Given the description of an element on the screen output the (x, y) to click on. 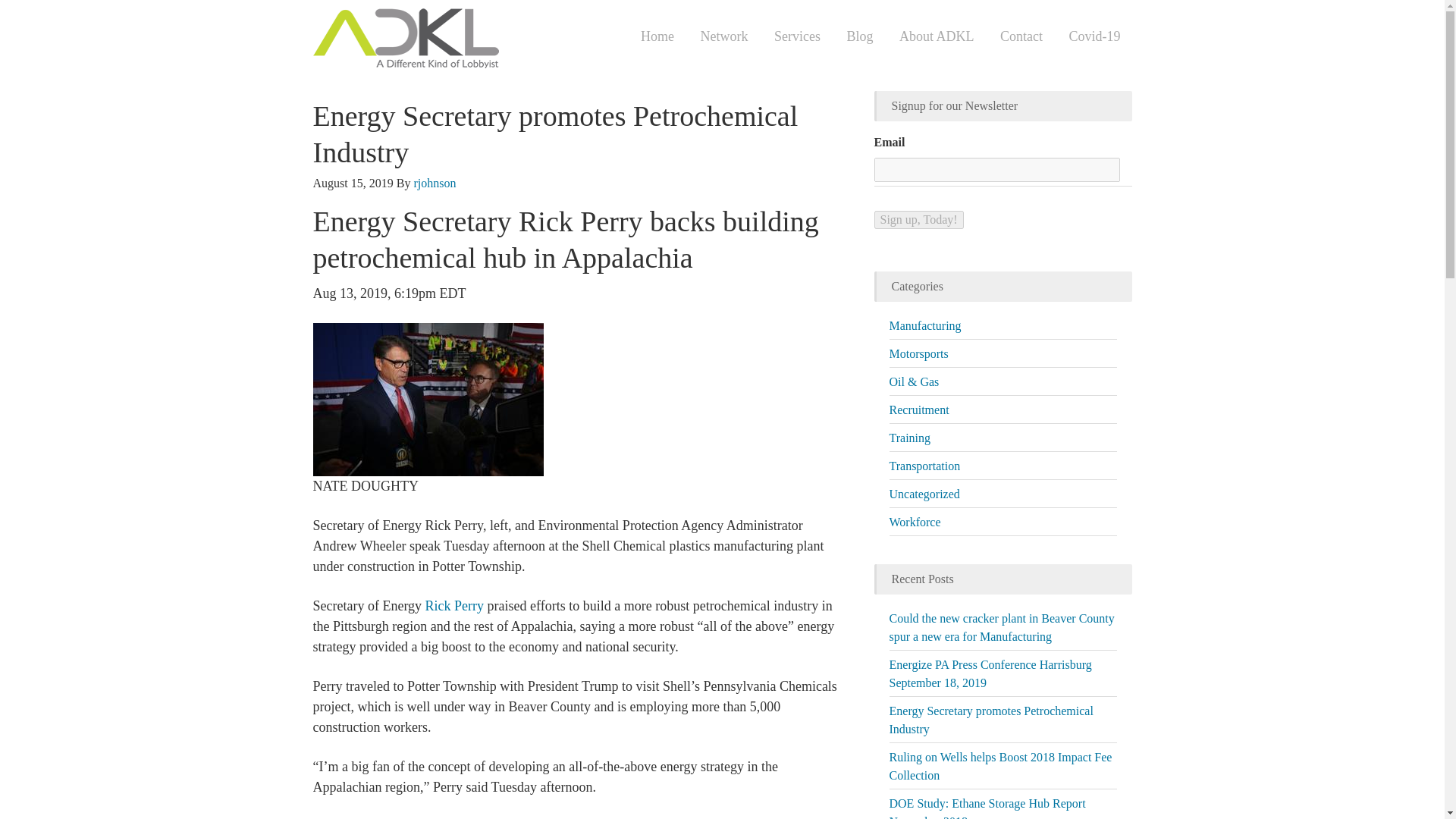
Uncategorized (923, 493)
Blog (858, 36)
Recruitment (918, 409)
Contact (1021, 36)
Home (656, 36)
Sign up, Today! (917, 219)
Sign up, Today! (917, 219)
Rick Perry (454, 605)
Transportation (923, 465)
Services (796, 36)
Training (909, 437)
A Different Kind of Lobbyist (464, 41)
Workforce (914, 521)
Manufacturing (924, 325)
